Given the description of an element on the screen output the (x, y) to click on. 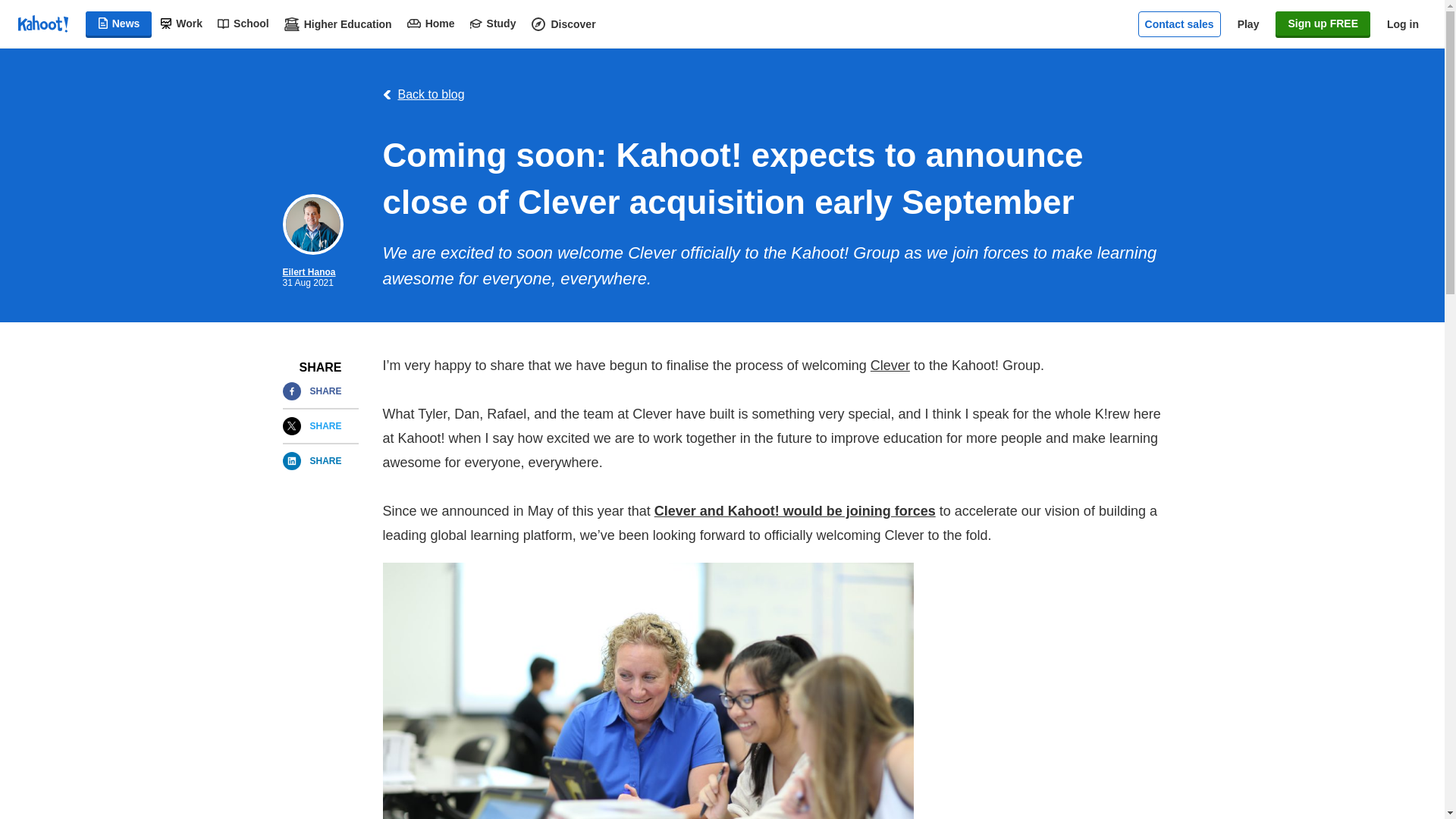
Sign up FREE (1322, 23)
School (243, 23)
News (118, 23)
Link to kahoot.com homepage (42, 24)
Work (181, 23)
Log in (1402, 24)
Home (431, 23)
Higher Education (337, 23)
Play (1248, 24)
